Given the description of an element on the screen output the (x, y) to click on. 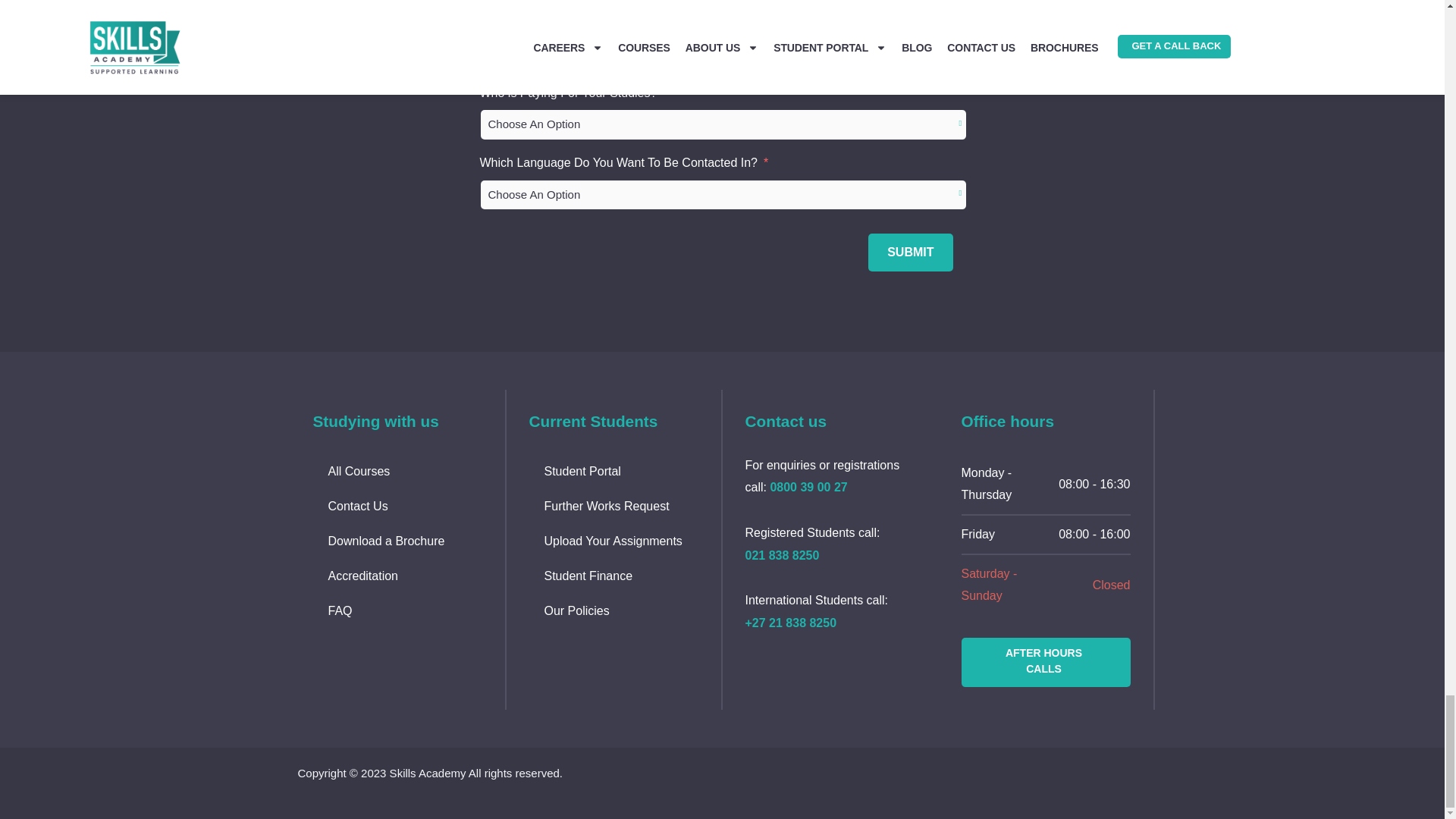
Submit (909, 252)
